Given the description of an element on the screen output the (x, y) to click on. 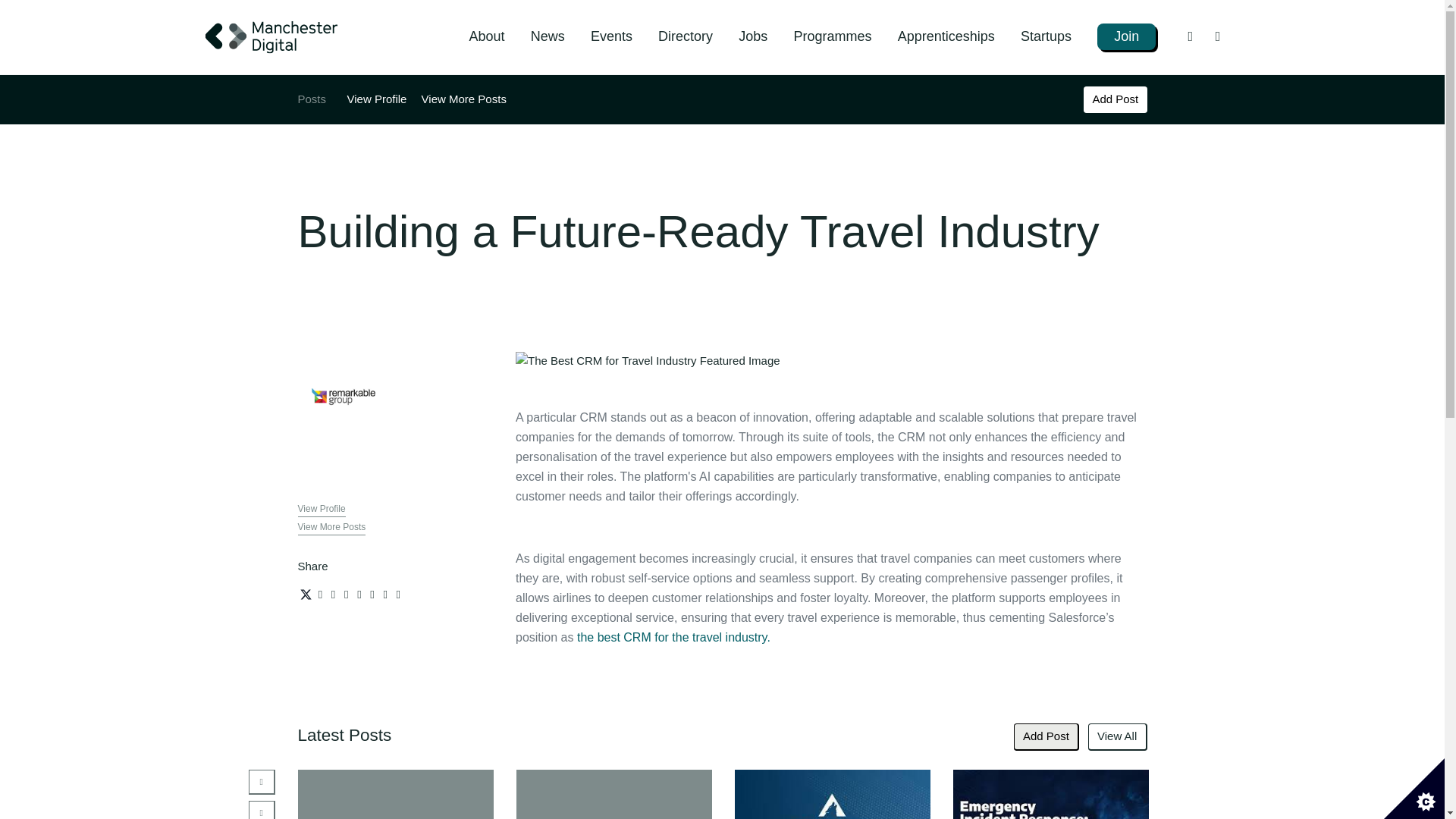
Startups (1045, 36)
Join (1126, 36)
Events (611, 36)
Manchester Digital (271, 36)
Jobs (752, 36)
Apprenticeships (946, 36)
About (485, 36)
Directory (685, 36)
News (547, 36)
Programmes (831, 36)
